Given the description of an element on the screen output the (x, y) to click on. 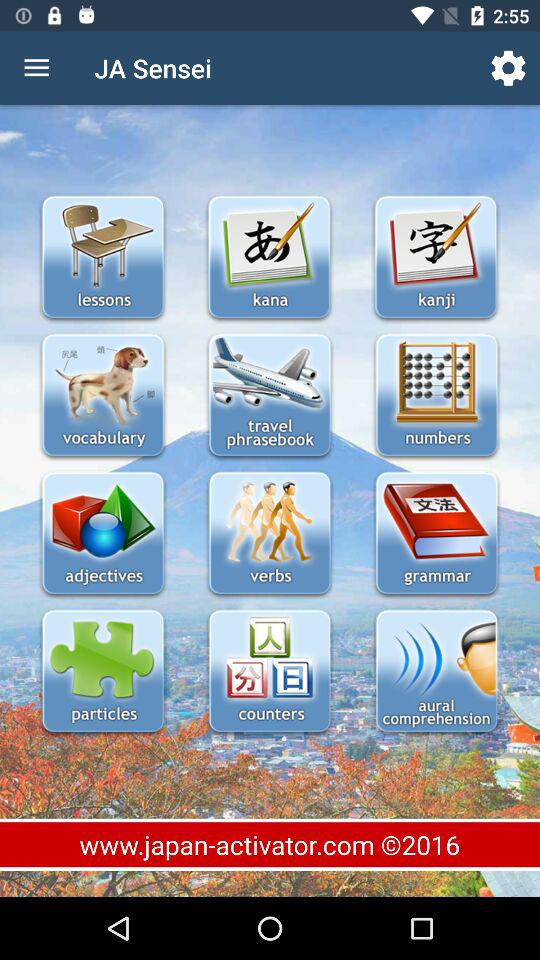
see a list of lessons (102, 258)
